Given the description of an element on the screen output the (x, y) to click on. 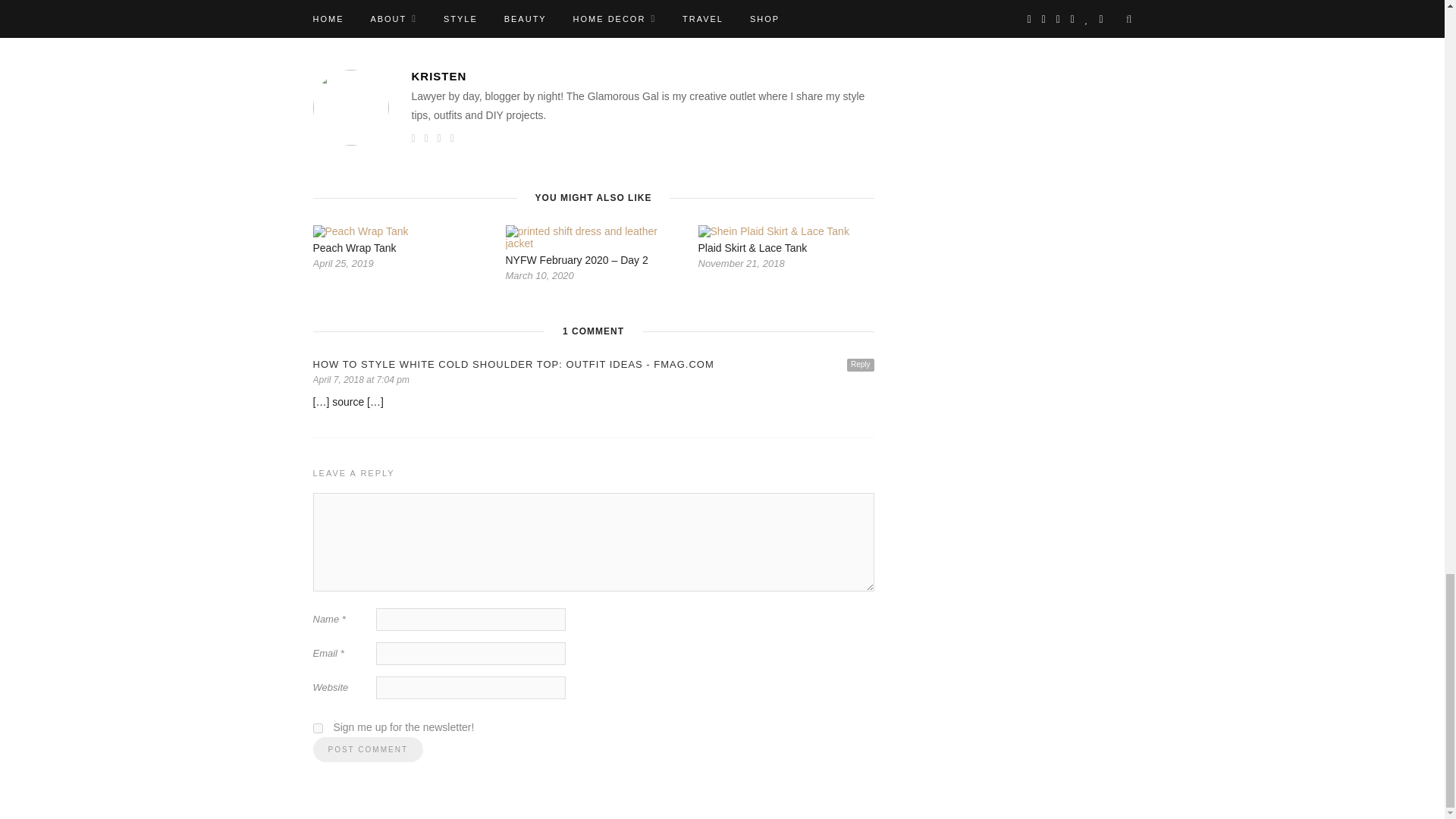
Posts by Kristen (641, 75)
Post Comment (367, 749)
Posts by Kristen (783, 4)
1 Comments (405, 4)
1 (317, 728)
